Given the description of an element on the screen output the (x, y) to click on. 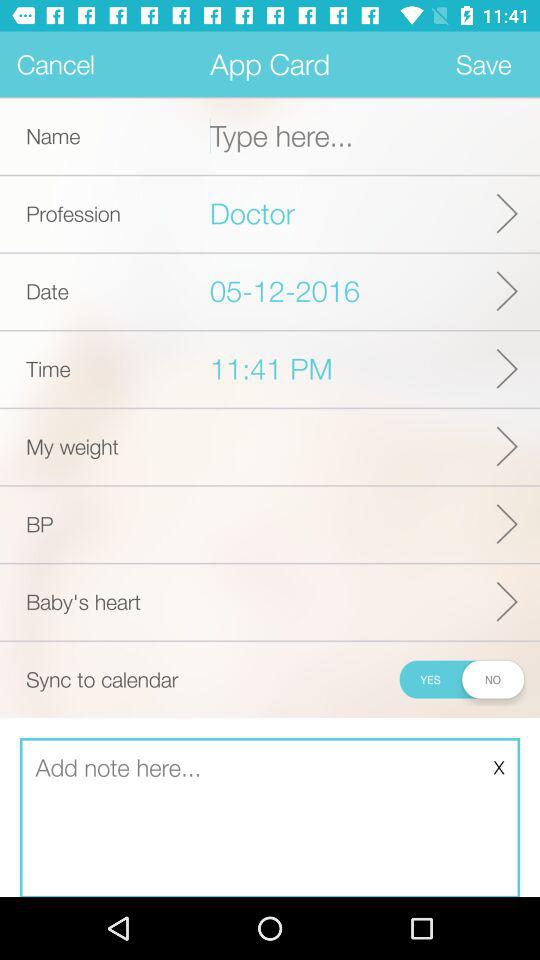
come back (269, 817)
